Given the description of an element on the screen output the (x, y) to click on. 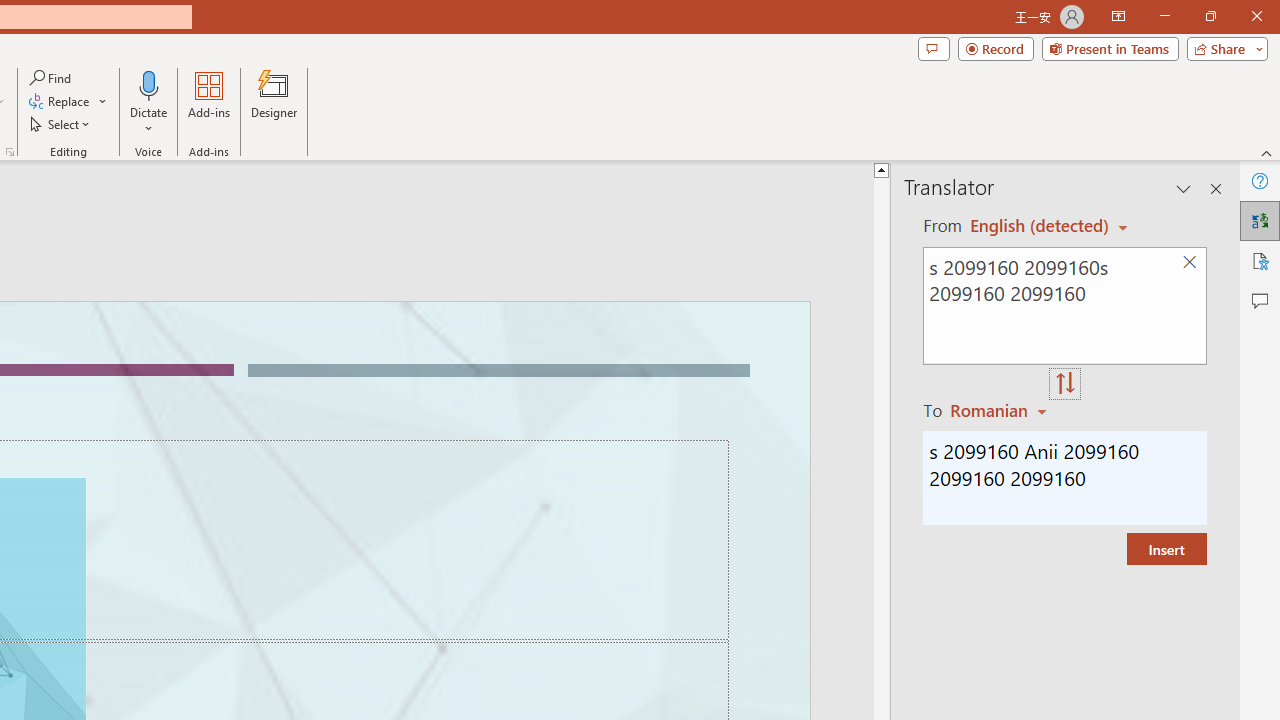
Clear text (1189, 262)
Swap "from" and "to" languages. (1065, 383)
Czech (detected) (1039, 225)
Dictate (149, 102)
Designer (274, 102)
Format Object... (9, 151)
Dictate (149, 84)
